Given the description of an element on the screen output the (x, y) to click on. 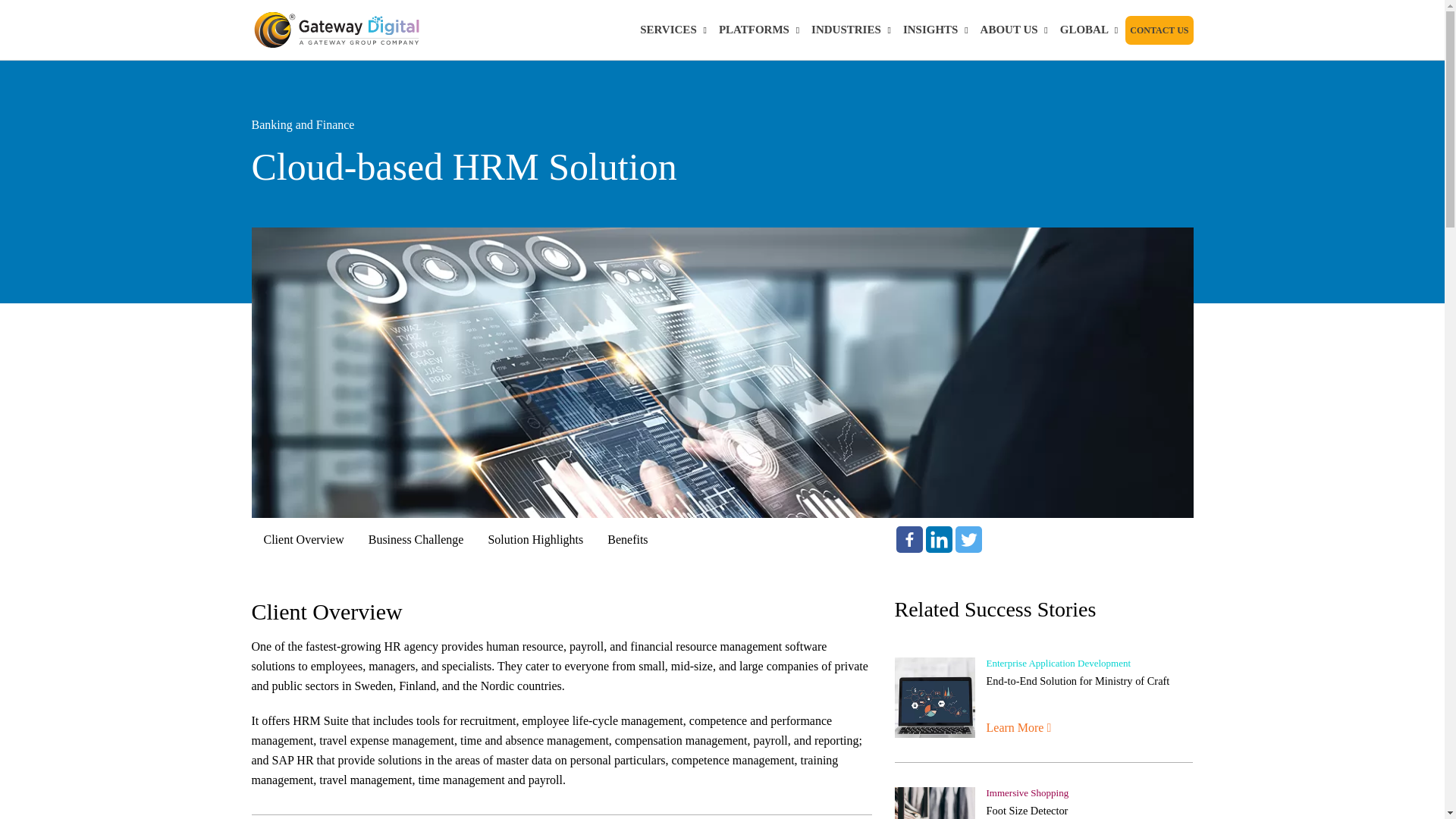
SERVICES (672, 29)
Client Overview (303, 540)
Benefits (627, 540)
Solution Highlights (535, 540)
Business Challenge (416, 540)
Linkedin (939, 539)
Twitter (968, 539)
Facebook (909, 539)
